Given the description of an element on the screen output the (x, y) to click on. 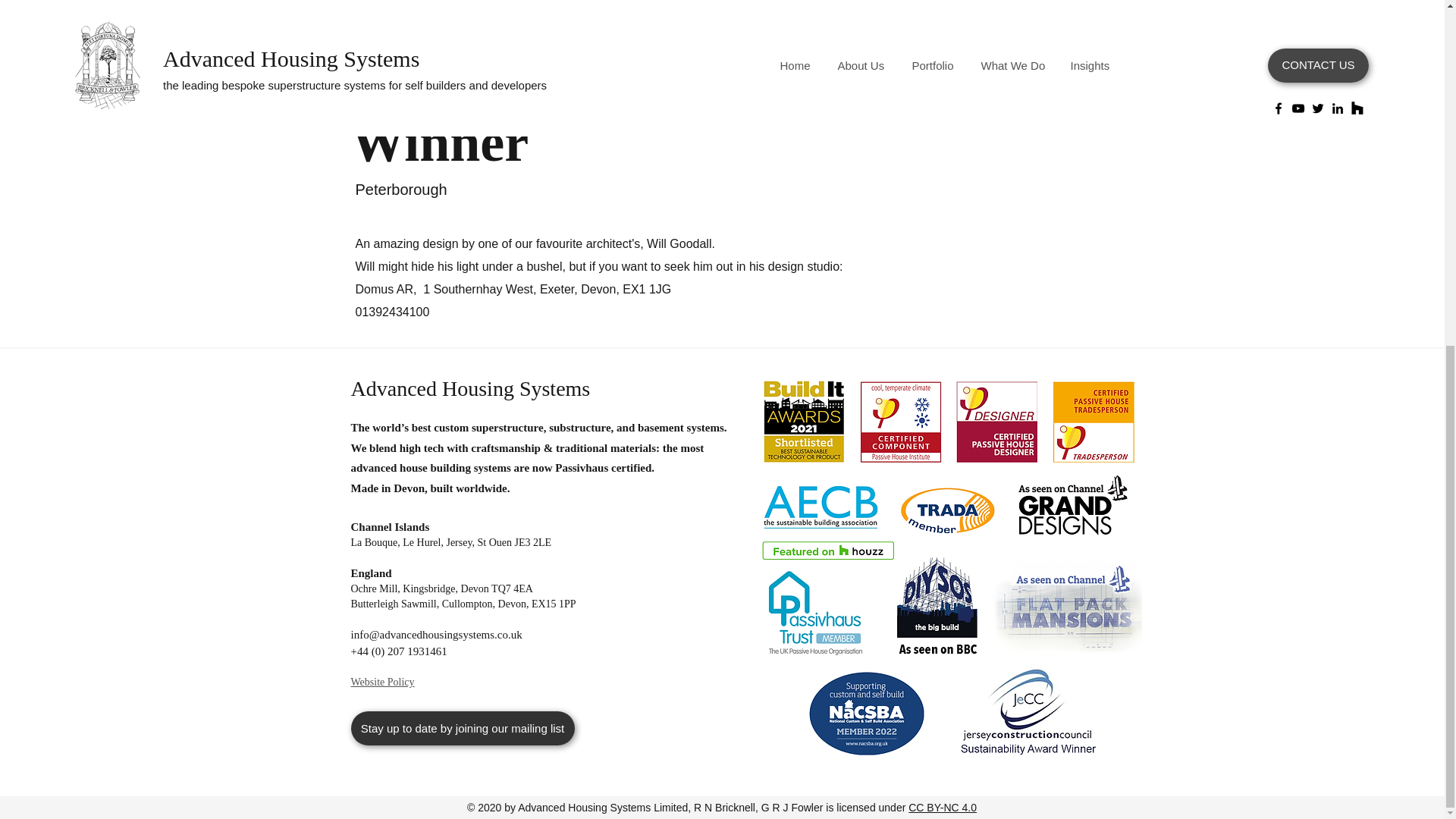
Website Policy (381, 681)
CC BY-NC 4.0 (942, 807)
Stay up to date by joining our mailing list (461, 728)
